Given the description of an element on the screen output the (x, y) to click on. 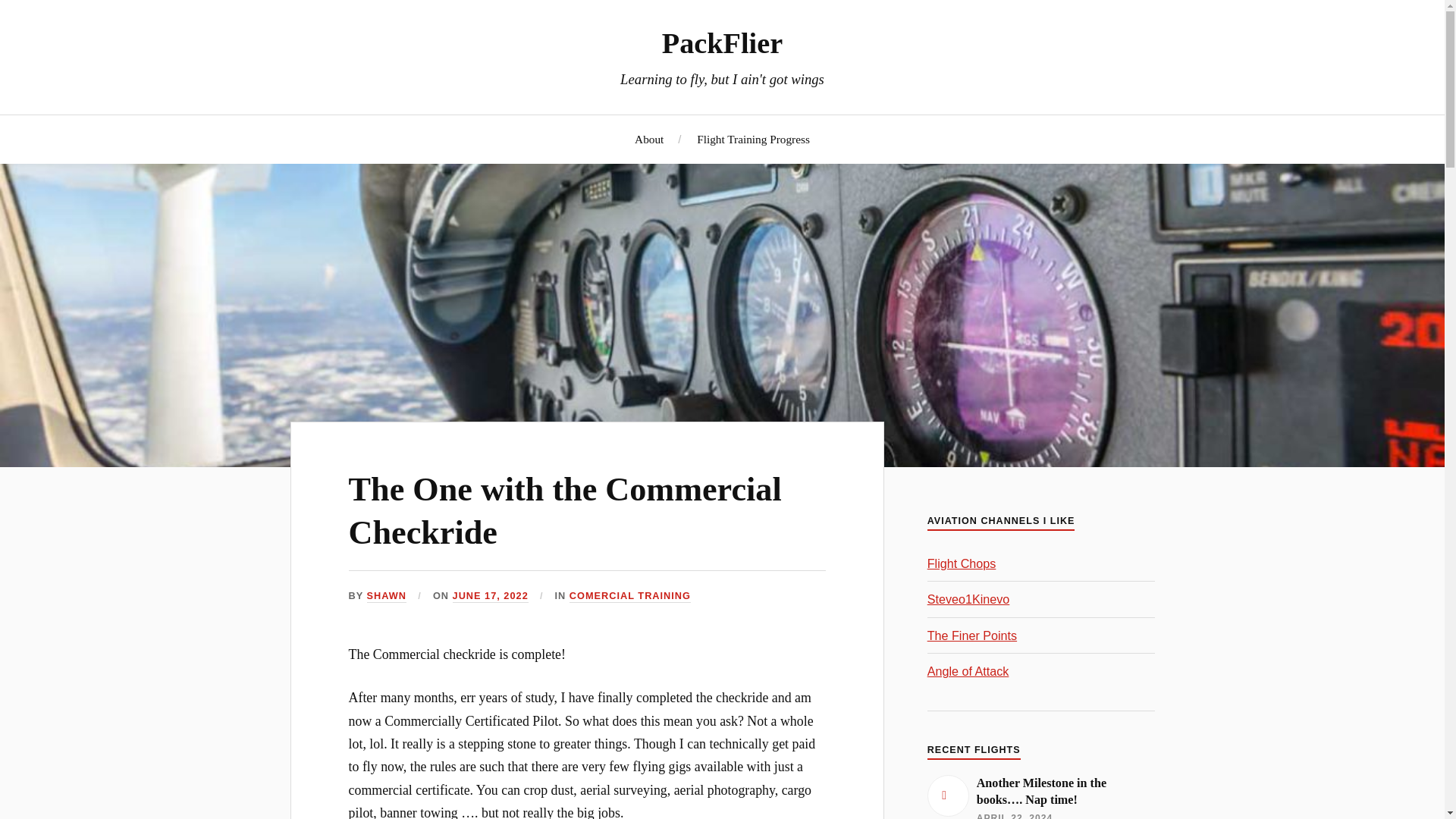
COMERCIAL TRAINING (629, 595)
Steveo1Kinevo (968, 599)
The One with the Commercial Checkride (565, 510)
Posts by Shawn (386, 595)
Angle of Attack (968, 671)
Flight Training Progress (753, 138)
The Finer Points (971, 635)
JUNE 17, 2022 (490, 595)
SHAWN (386, 595)
PackFlier (722, 42)
Flight Chops (961, 563)
